Given the description of an element on the screen output the (x, y) to click on. 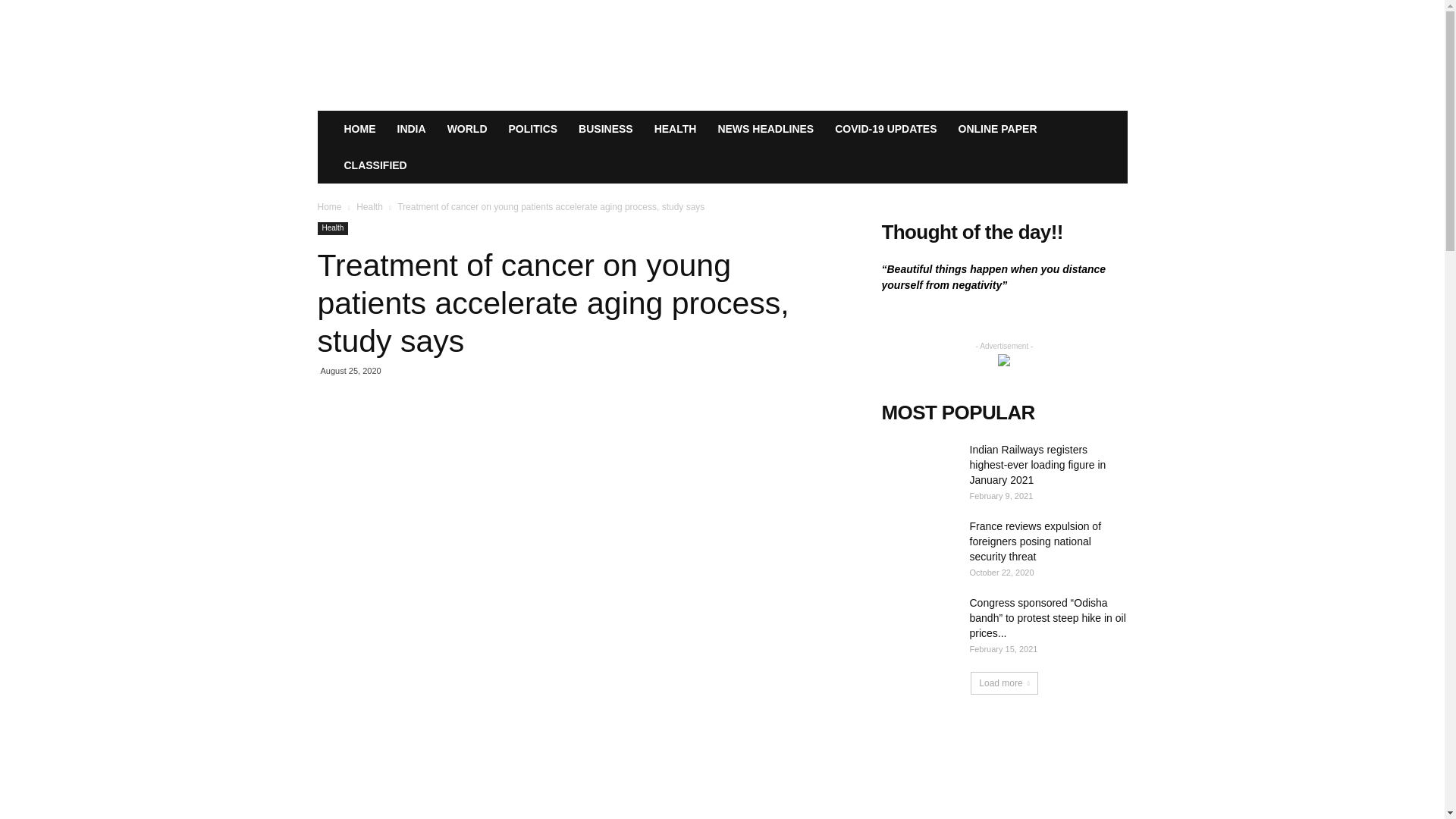
View all posts in Health (369, 206)
